Given the description of an element on the screen output the (x, y) to click on. 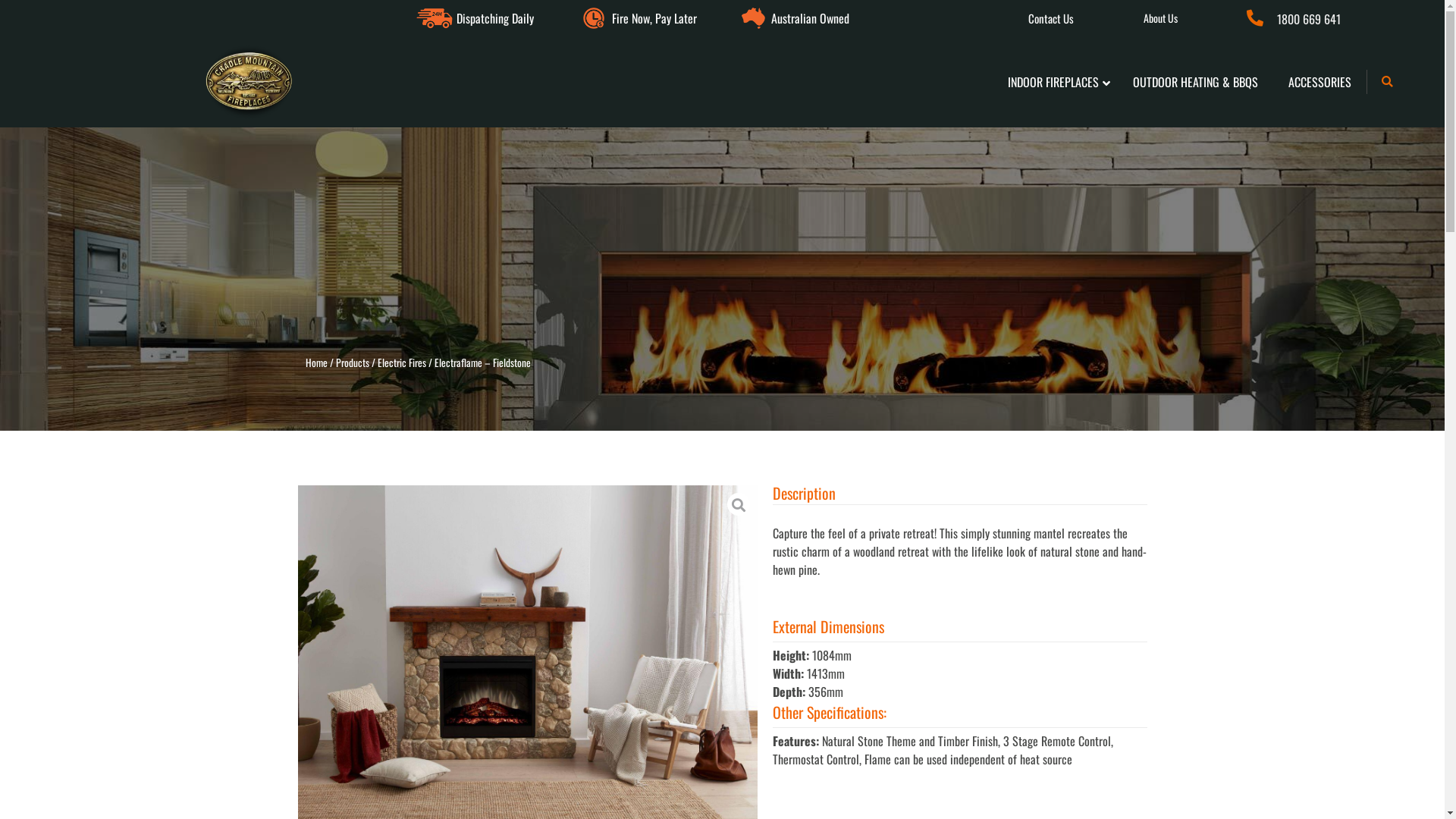
ACCESSORIES Element type: text (1319, 81)
INDOOR FIREPLACES Element type: text (1054, 81)
About Us Element type: text (1160, 17)
Contact Us Element type: text (1050, 17)
Products Element type: text (351, 362)
1800 669 641 Element type: text (1332, 18)
Electric Fires Element type: text (401, 362)
Home Element type: text (315, 362)
